Given the description of an element on the screen output the (x, y) to click on. 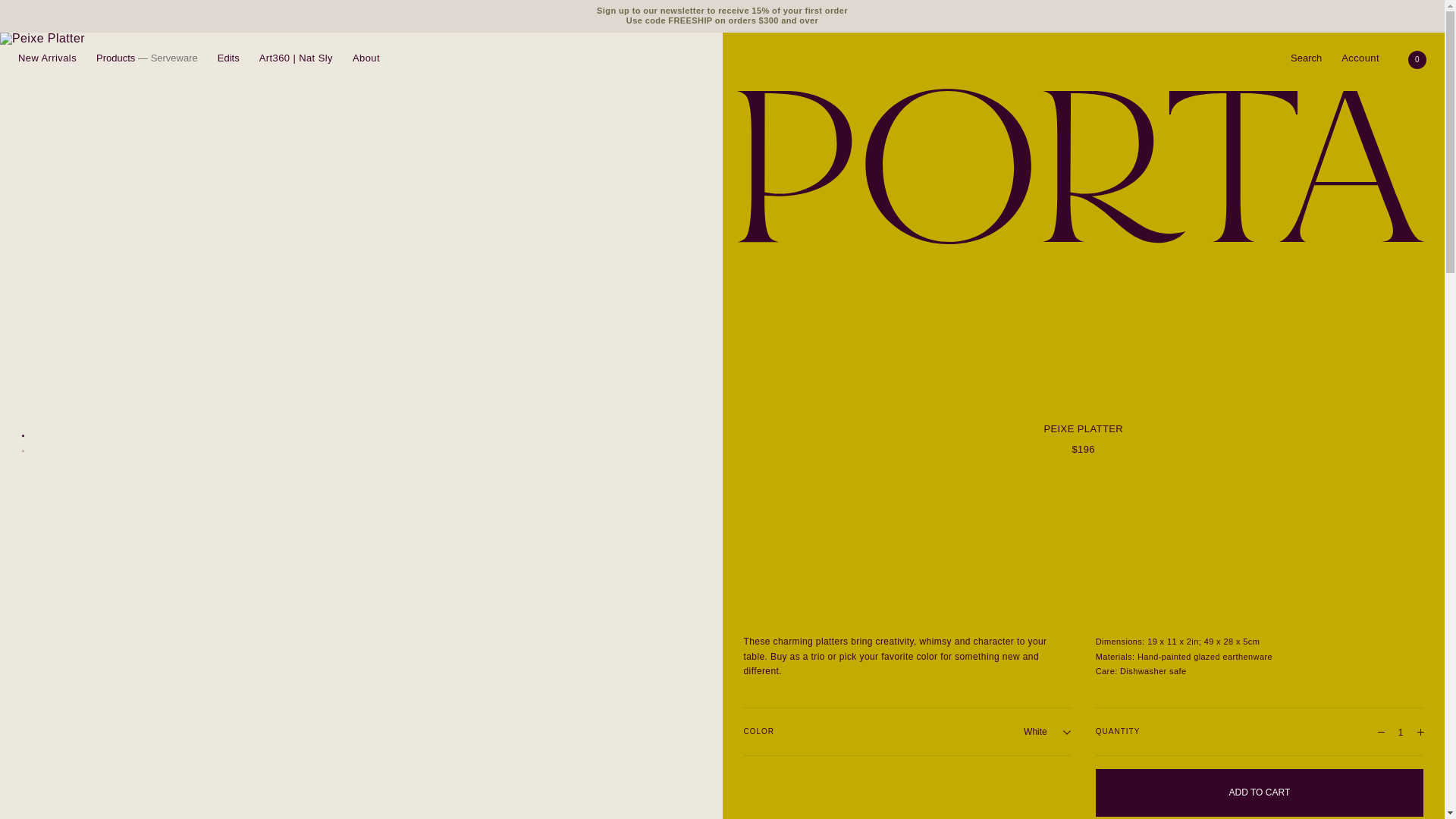
1 (1400, 731)
About (365, 57)
Edits (228, 57)
Serveware (174, 57)
New Arrivals (47, 57)
